Given the description of an element on the screen output the (x, y) to click on. 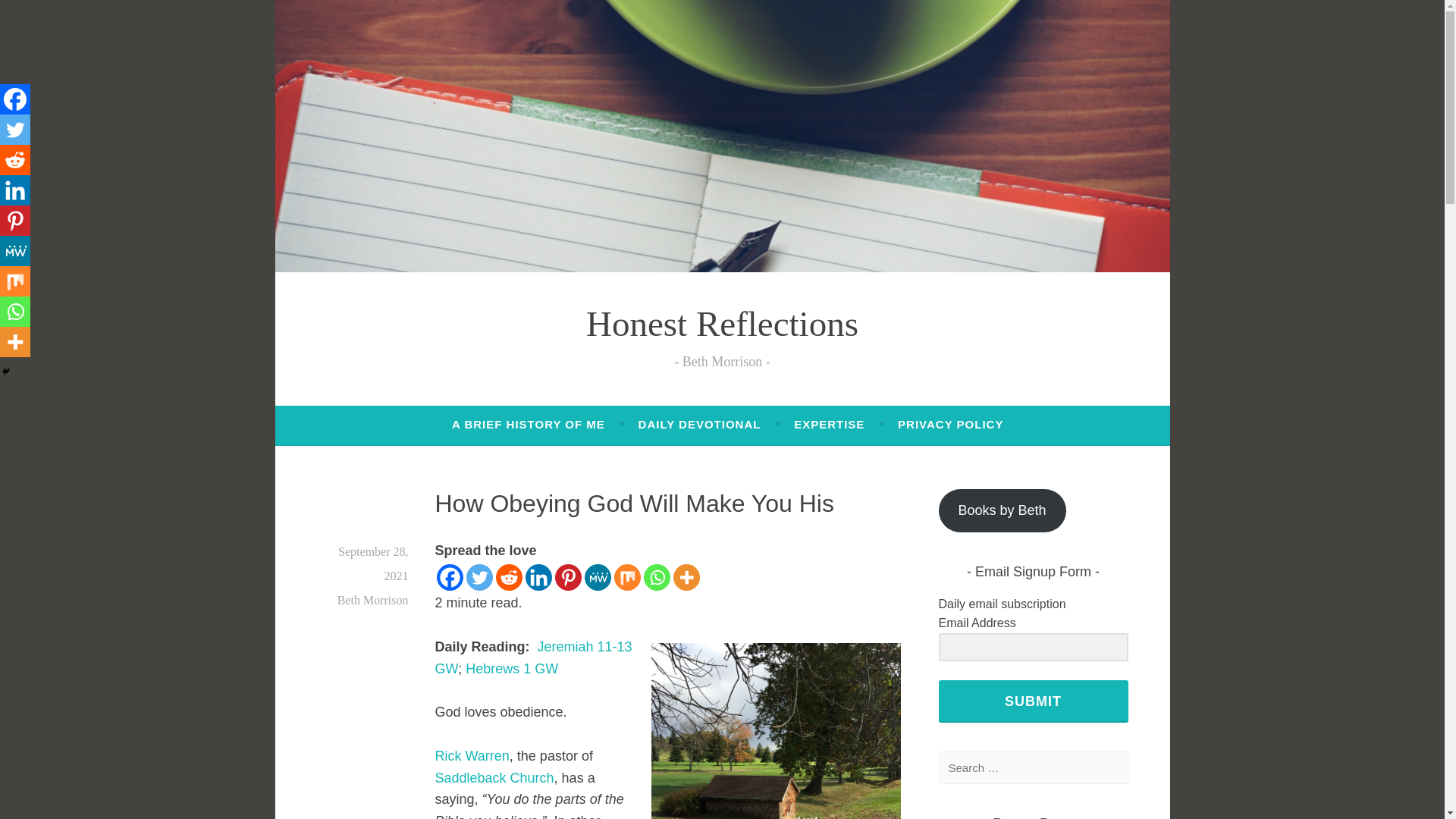
PRIVACY POLICY (950, 424)
Reddit (15, 159)
Books by Beth (1002, 510)
Linkedin (15, 190)
Beth Morrison (373, 599)
Honest Reflections (722, 323)
MeWe (596, 577)
Pinterest (567, 577)
Whatsapp (656, 577)
Facebook (449, 577)
